Given the description of an element on the screen output the (x, y) to click on. 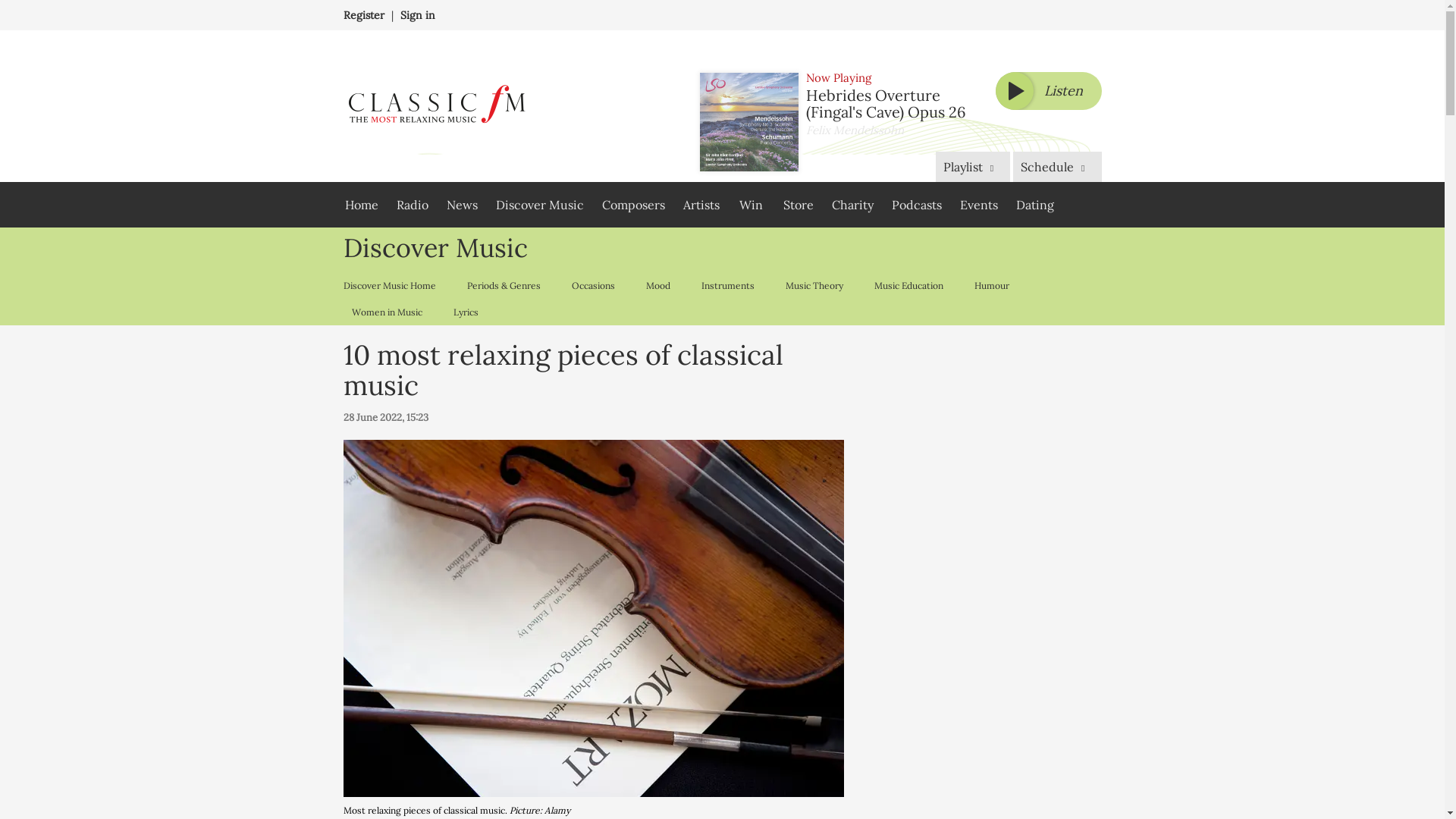
Home (360, 204)
Music Theory (812, 285)
Music Education (908, 285)
Schedule (1056, 166)
Instruments (727, 285)
Dating (1034, 204)
Discover Music Home (391, 285)
Playlist (973, 166)
Lyrics (464, 311)
Occasions (591, 285)
